Given the description of an element on the screen output the (x, y) to click on. 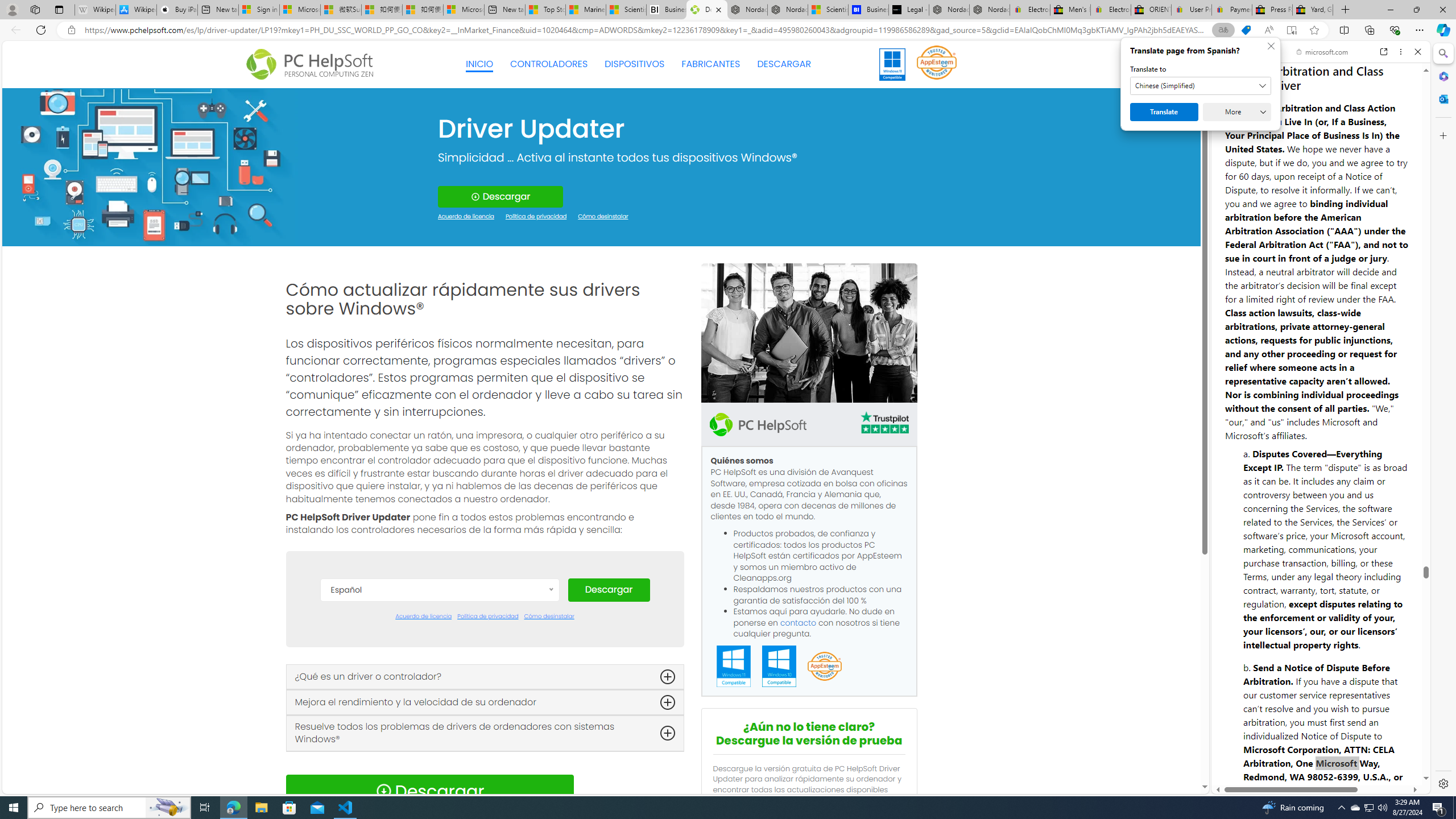
App Esteem (823, 666)
Windows 11 (892, 64)
CONTROLADORES (548, 64)
Dansk (439, 643)
Marine life - MSN (585, 9)
